Given the description of an element on the screen output the (x, y) to click on. 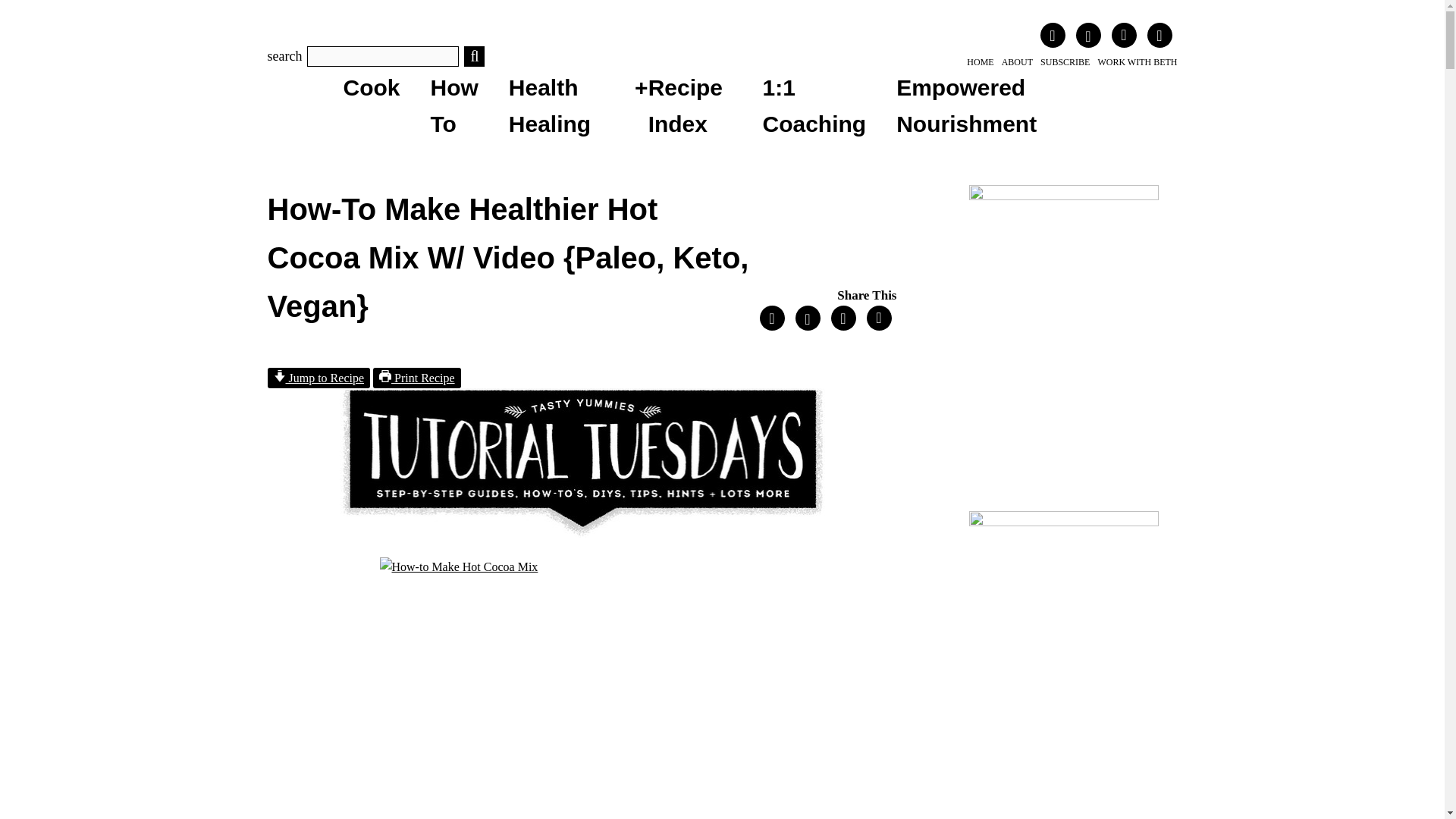
Print Recipe (416, 377)
Empowered Nourishment (966, 105)
SUBSCRIBE (1065, 62)
ABOUT (1016, 62)
Jump to Recipe (317, 377)
WORK WITH BETH (1136, 62)
Recipe Index (684, 105)
Cook (370, 87)
HOME (979, 62)
